Given the description of an element on the screen output the (x, y) to click on. 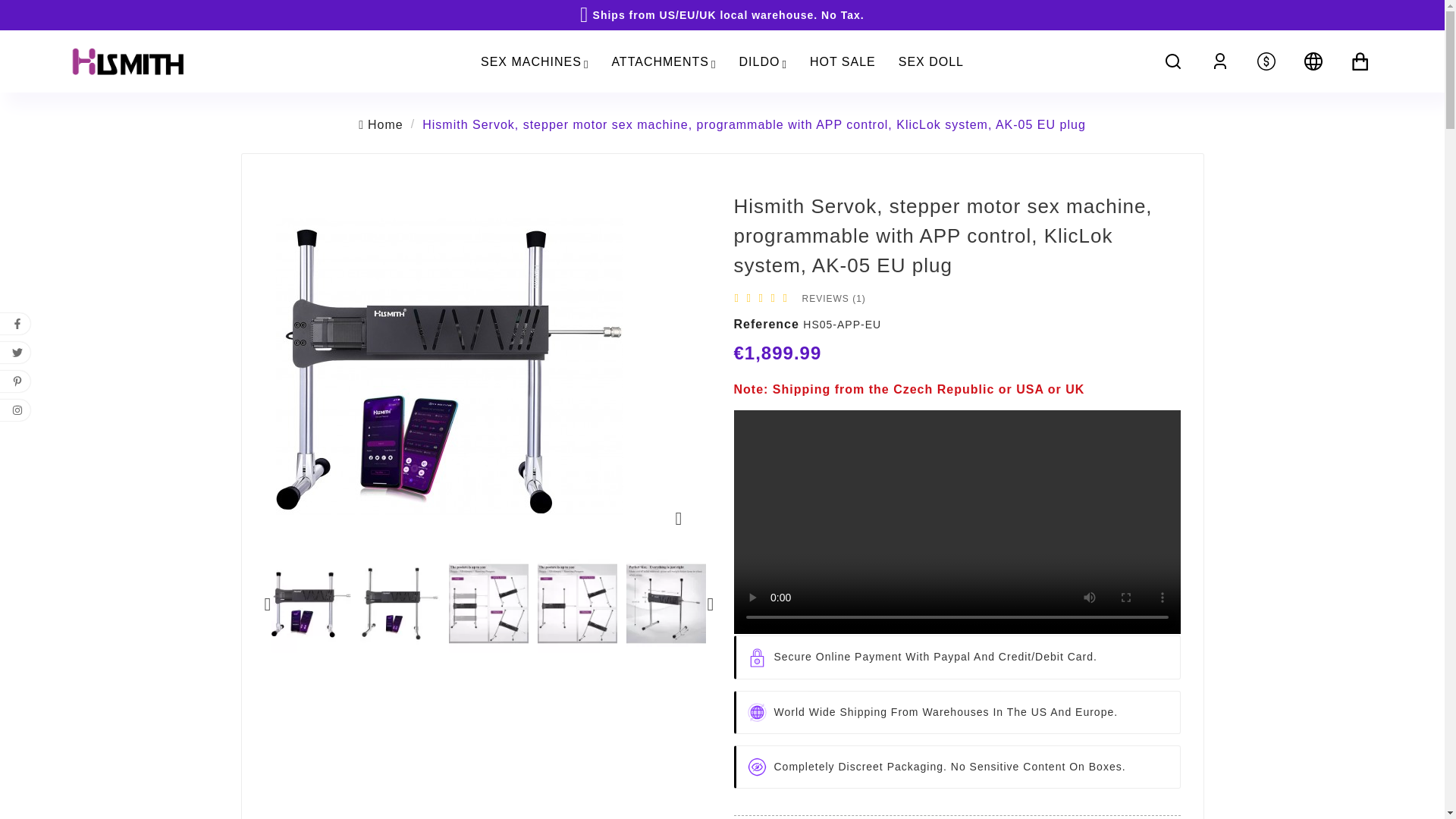
DILDO (761, 61)
SEX DOLL (930, 61)
Cart (1362, 61)
HOT SALE (841, 61)
SEX MACHINES (533, 61)
ATTACHMENTS (662, 61)
